Given the description of an element on the screen output the (x, y) to click on. 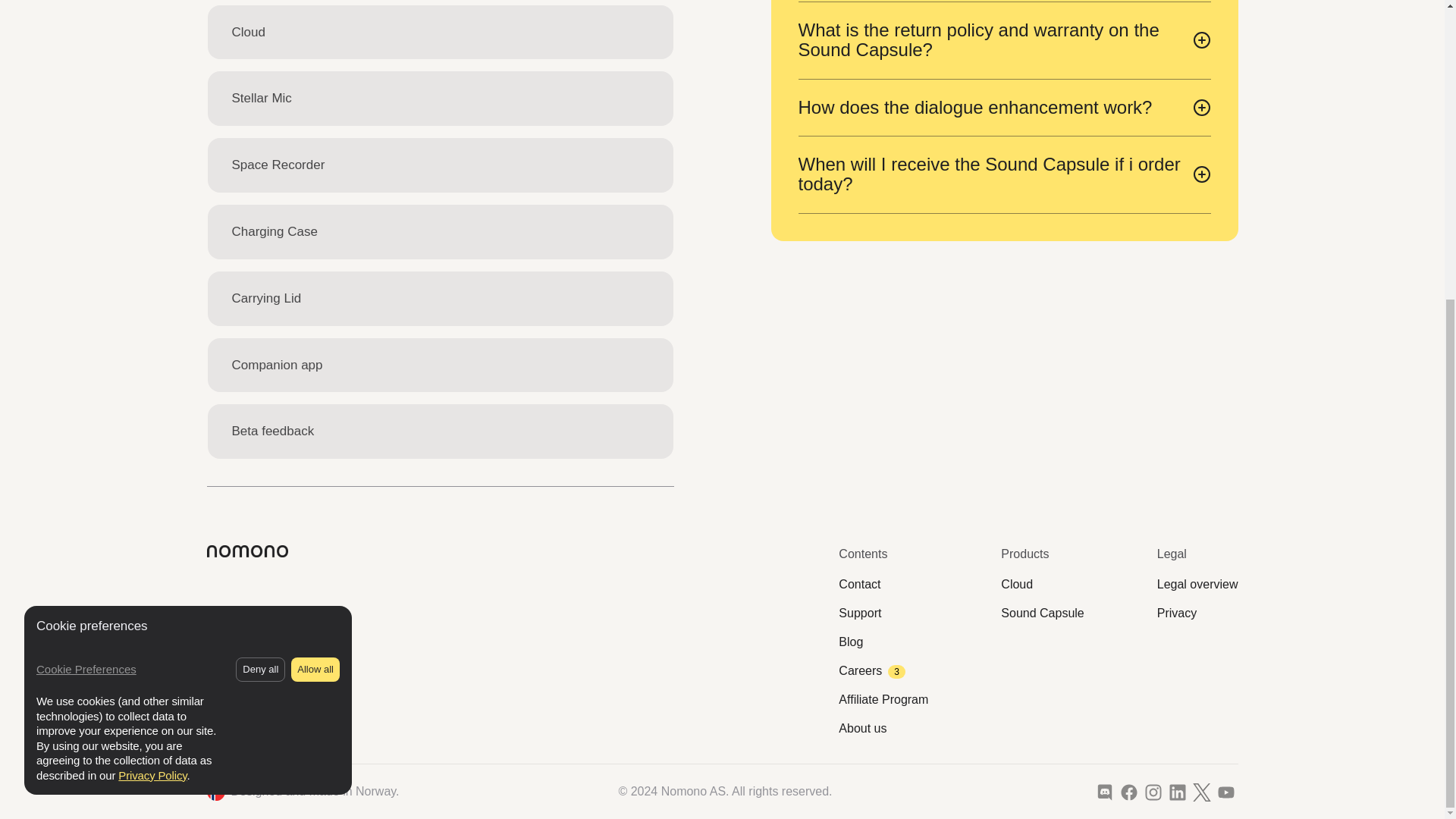
Contact (859, 585)
Support (859, 614)
Beta feedback (440, 431)
How does the dialogue enhancement work? (1003, 107)
What is the return policy and warranty on the Sound Capsule? (1003, 40)
About us (862, 729)
Blog (850, 642)
Careers (871, 671)
Space Recorder (440, 165)
Carrying Lid (440, 298)
Cloud (1016, 585)
When will I receive the Sound Capsule if i order today? (1003, 174)
Affiliate Program (883, 700)
